Given the description of an element on the screen output the (x, y) to click on. 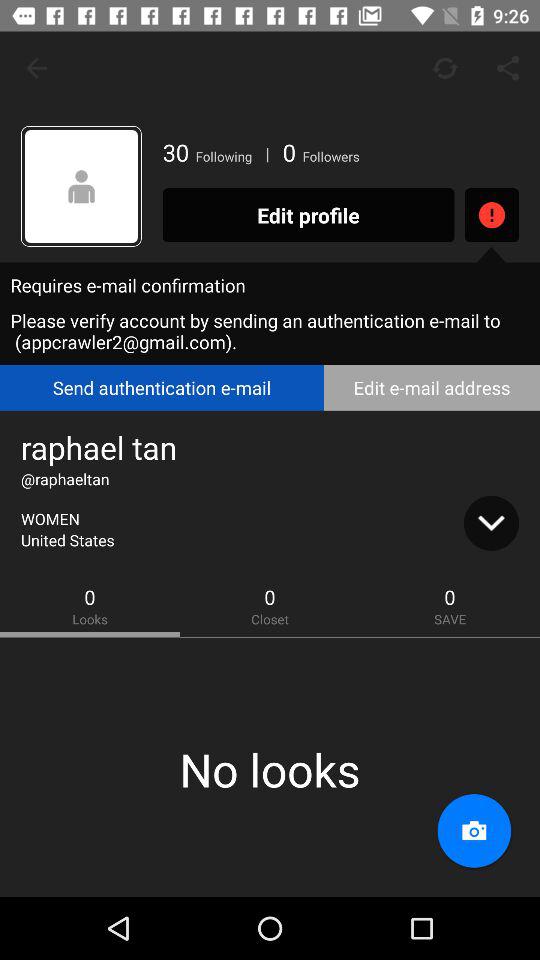
select the camera (474, 831)
